Given the description of an element on the screen output the (x, y) to click on. 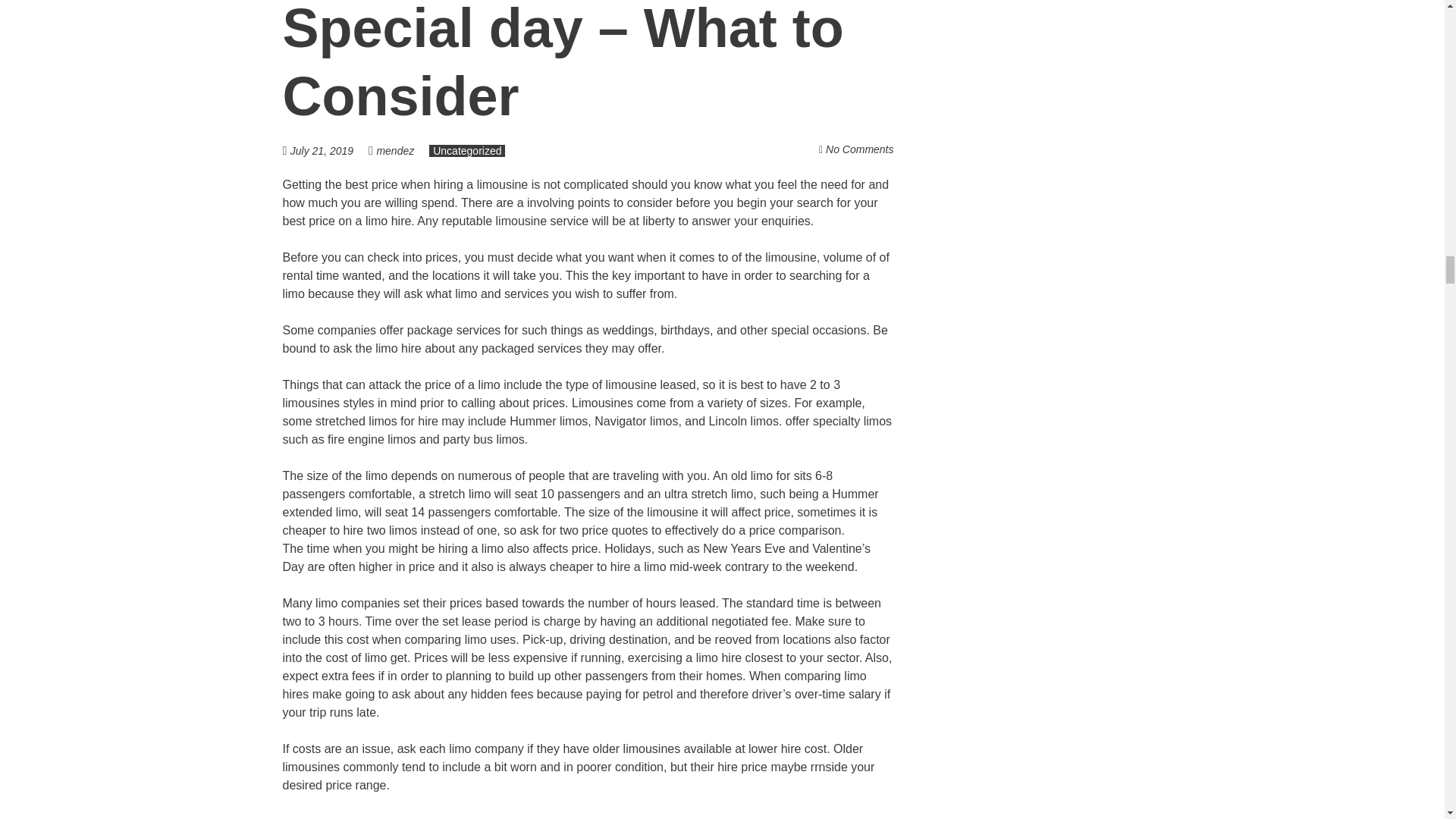
Uncategorized (467, 150)
No Comments (859, 149)
July 21, 2019 (328, 150)
mendez (394, 150)
